Given the description of an element on the screen output the (x, y) to click on. 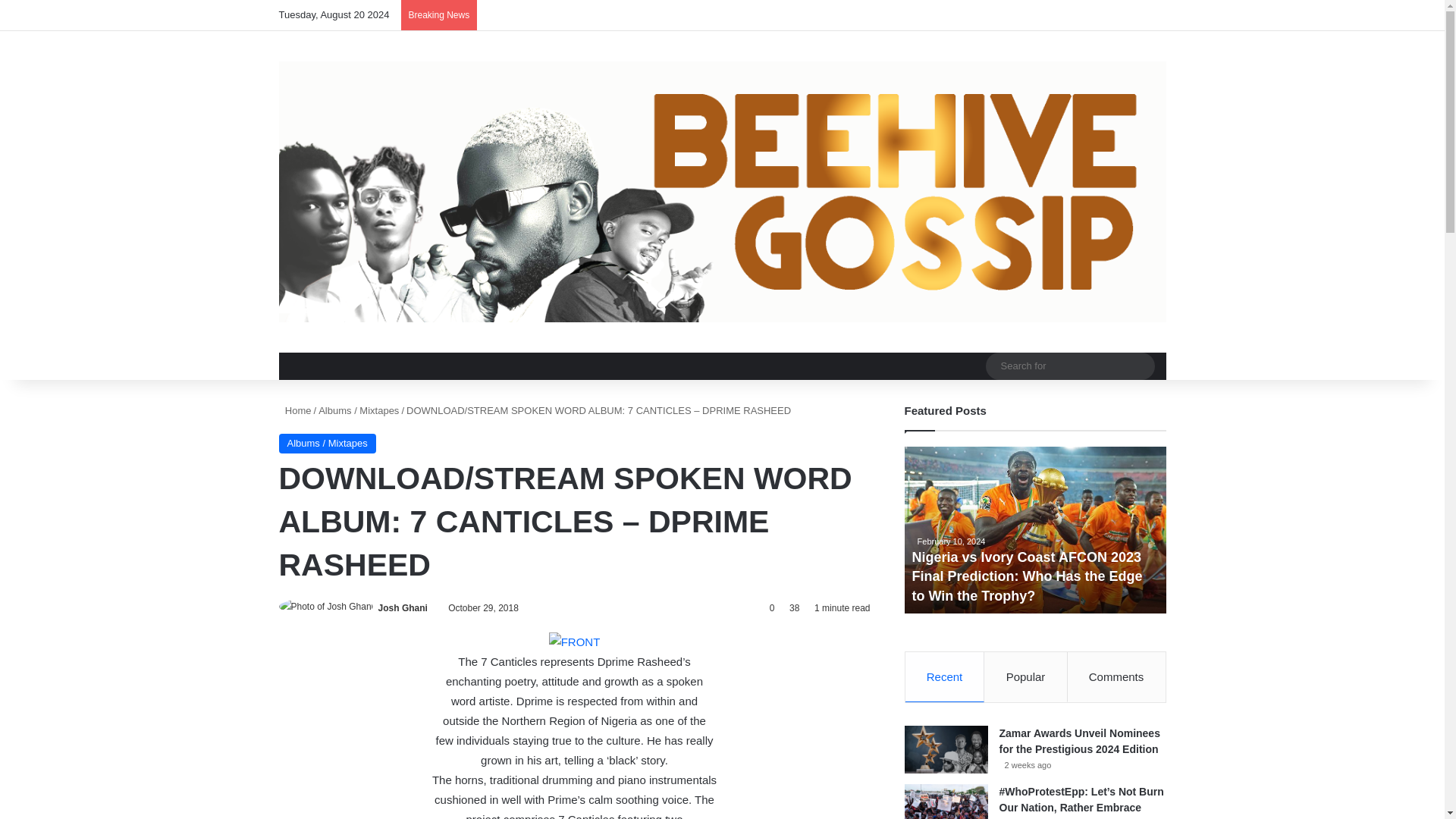
Search for (1069, 365)
Home (295, 410)
Josh Ghani (403, 607)
Search for (1139, 366)
Josh Ghani (403, 607)
